Given the description of an element on the screen output the (x, y) to click on. 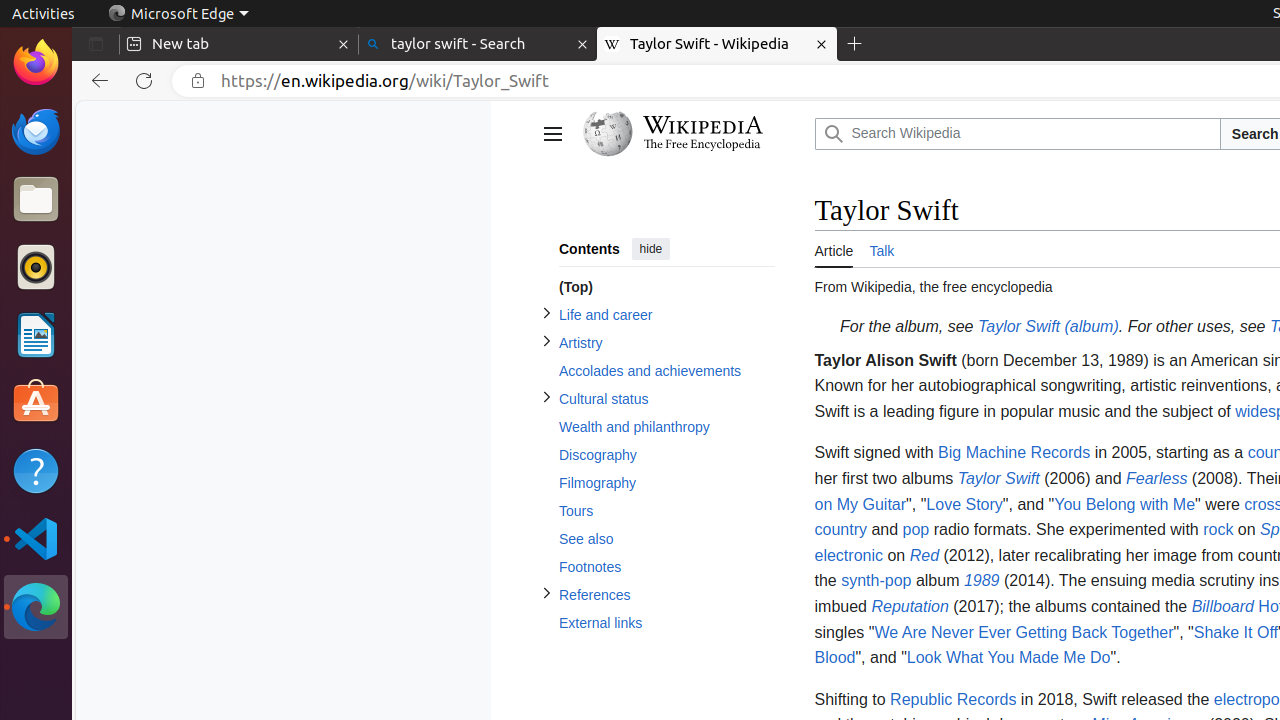
Life and career Element type: link (666, 315)
Toggle Cultural status subsection Element type: push-button (546, 397)
Microsoft Edge Element type: menu (178, 13)
Love Story Element type: link (964, 504)
pop Element type: link (916, 530)
